Given the description of an element on the screen output the (x, y) to click on. 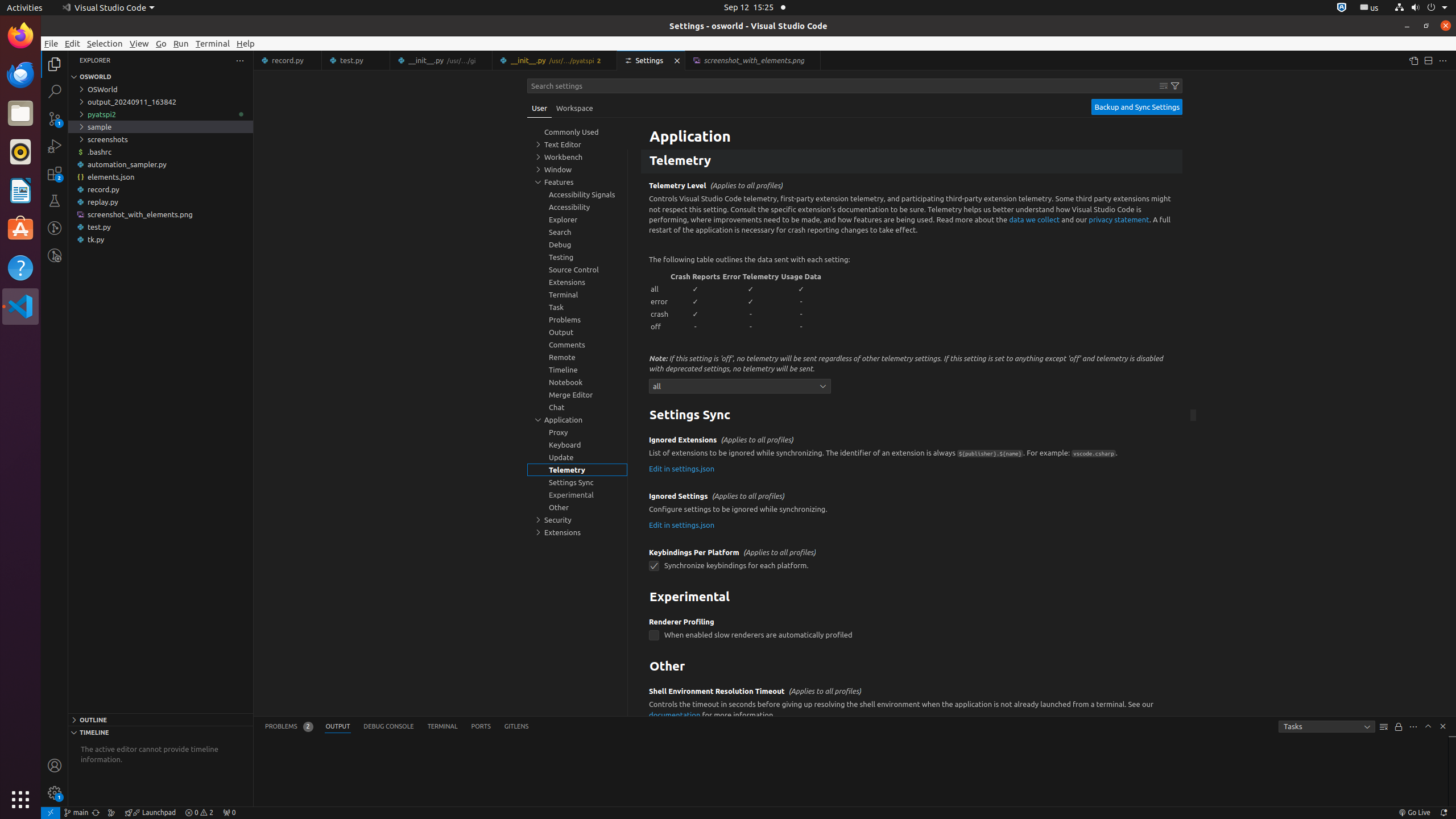
tk.py Element type: tree-item (160, 239)
Explorer Section: osworld Element type: push-button (160, 76)
test.py Element type: page-tab (355, 60)
.bashrc Element type: tree-item (160, 151)
